Given the description of an element on the screen output the (x, y) to click on. 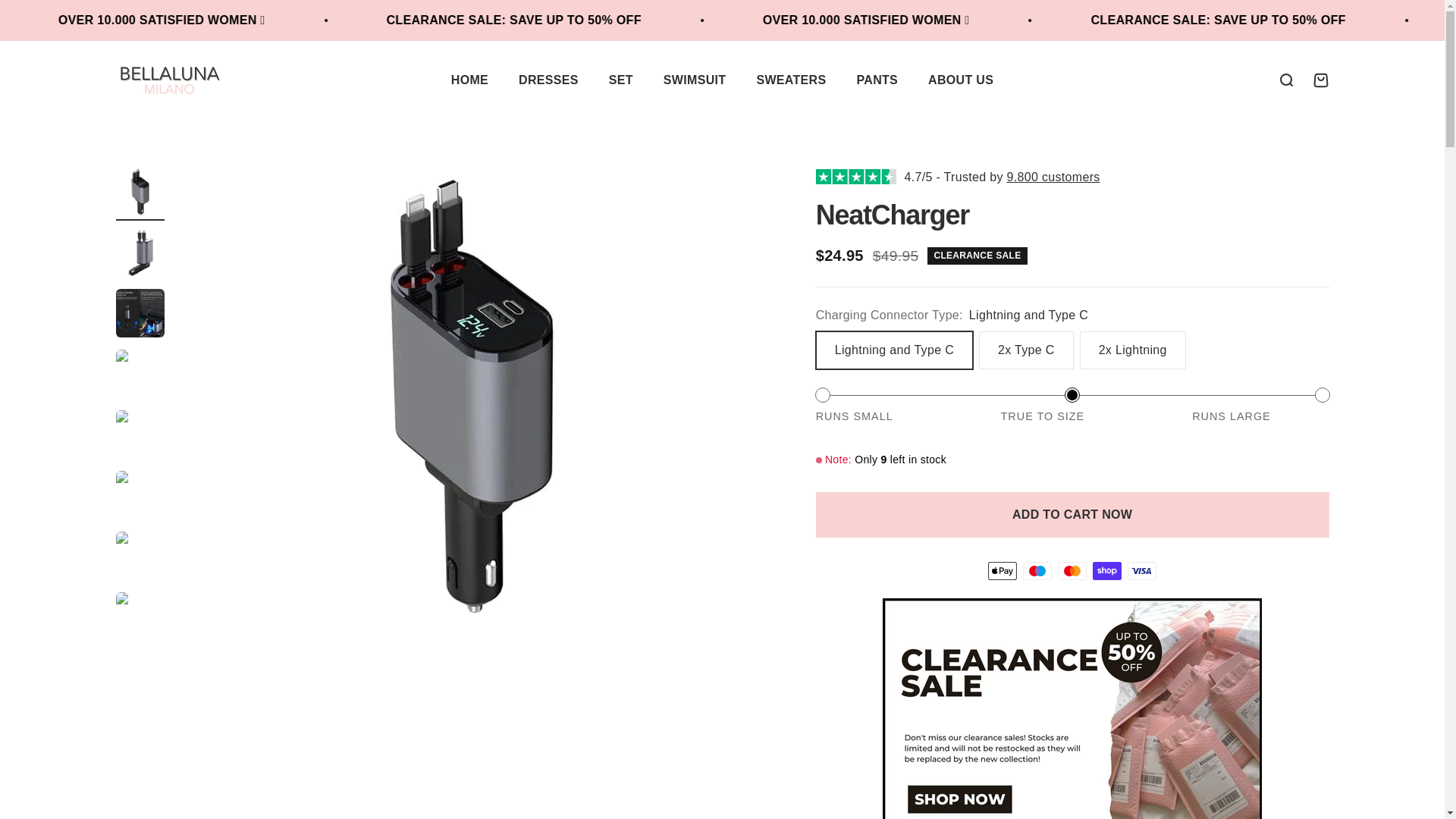
SWIMSUIT (694, 79)
BellaLuna (170, 79)
ABOUT US (960, 79)
2x Type C (1319, 79)
2x Lightning (1285, 79)
HOME (620, 79)
PANTS (469, 79)
DRESSES (877, 79)
SWEATERS (548, 79)
